Given the description of an element on the screen output the (x, y) to click on. 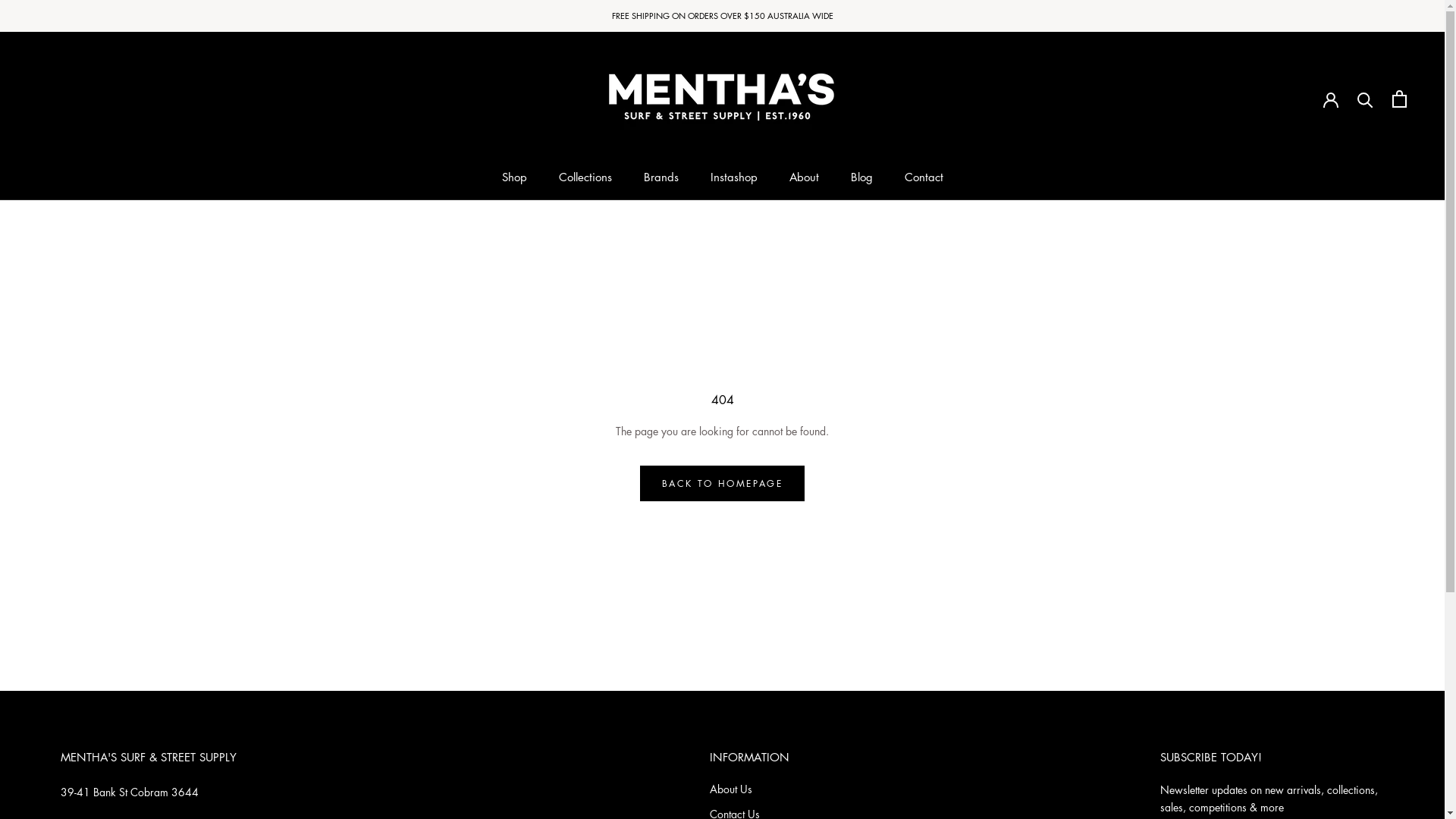
About Us Element type: text (754, 789)
Blog
Blog Element type: text (861, 176)
Brands
Brands Element type: text (660, 176)
BACK TO HOMEPAGE Element type: text (722, 483)
Instashop
Instashop Element type: text (732, 176)
Contact
Contact Element type: text (922, 176)
FREE SHIPPING ON ORDERS OVER $150 AUSTRALIA WIDE Element type: text (721, 15)
Collections
Collections Element type: text (584, 176)
Shop Element type: text (514, 176)
About
About Element type: text (803, 176)
